Given the description of an element on the screen output the (x, y) to click on. 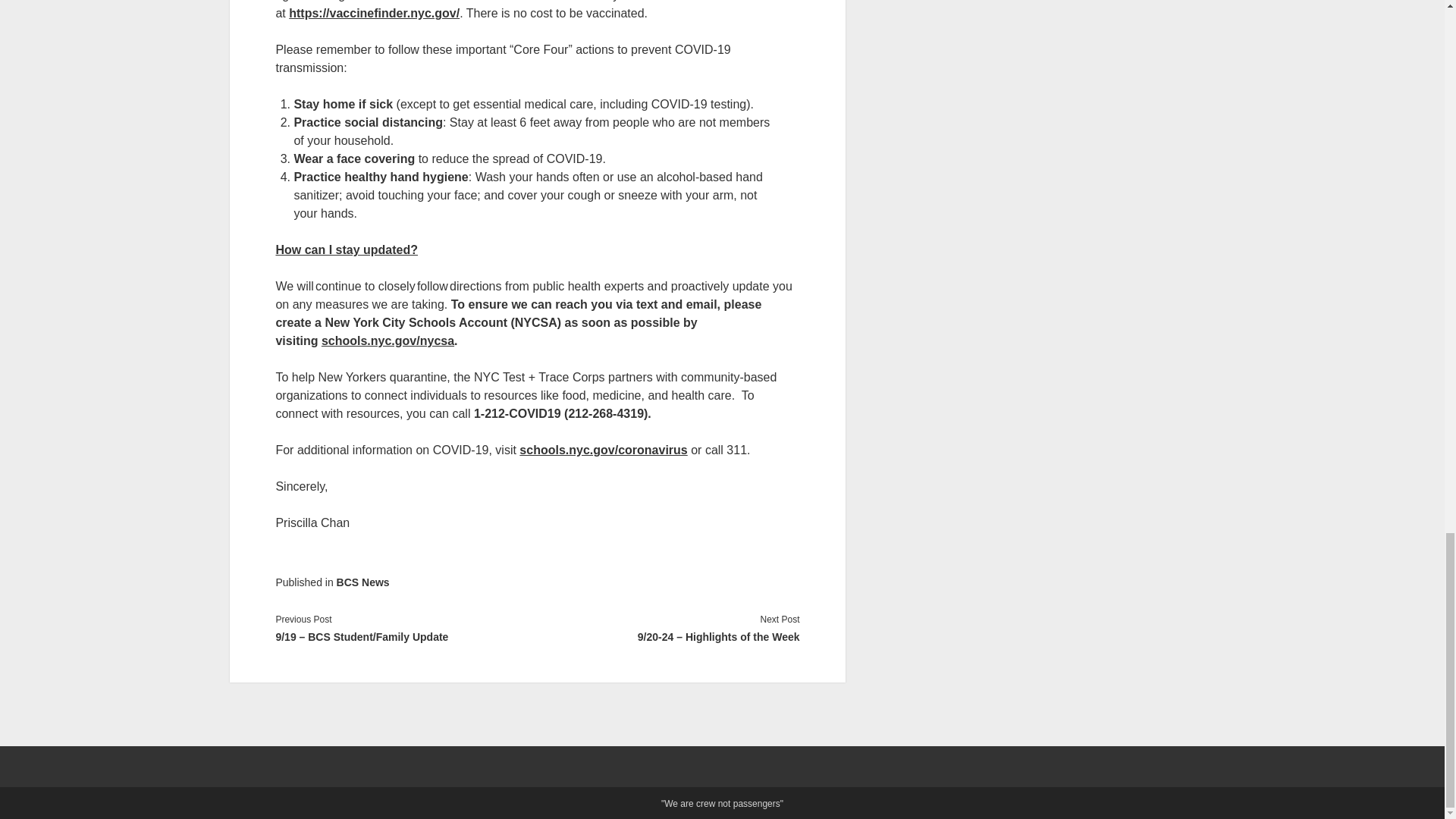
View all posts in BCS News (363, 582)
